Given the description of an element on the screen output the (x, y) to click on. 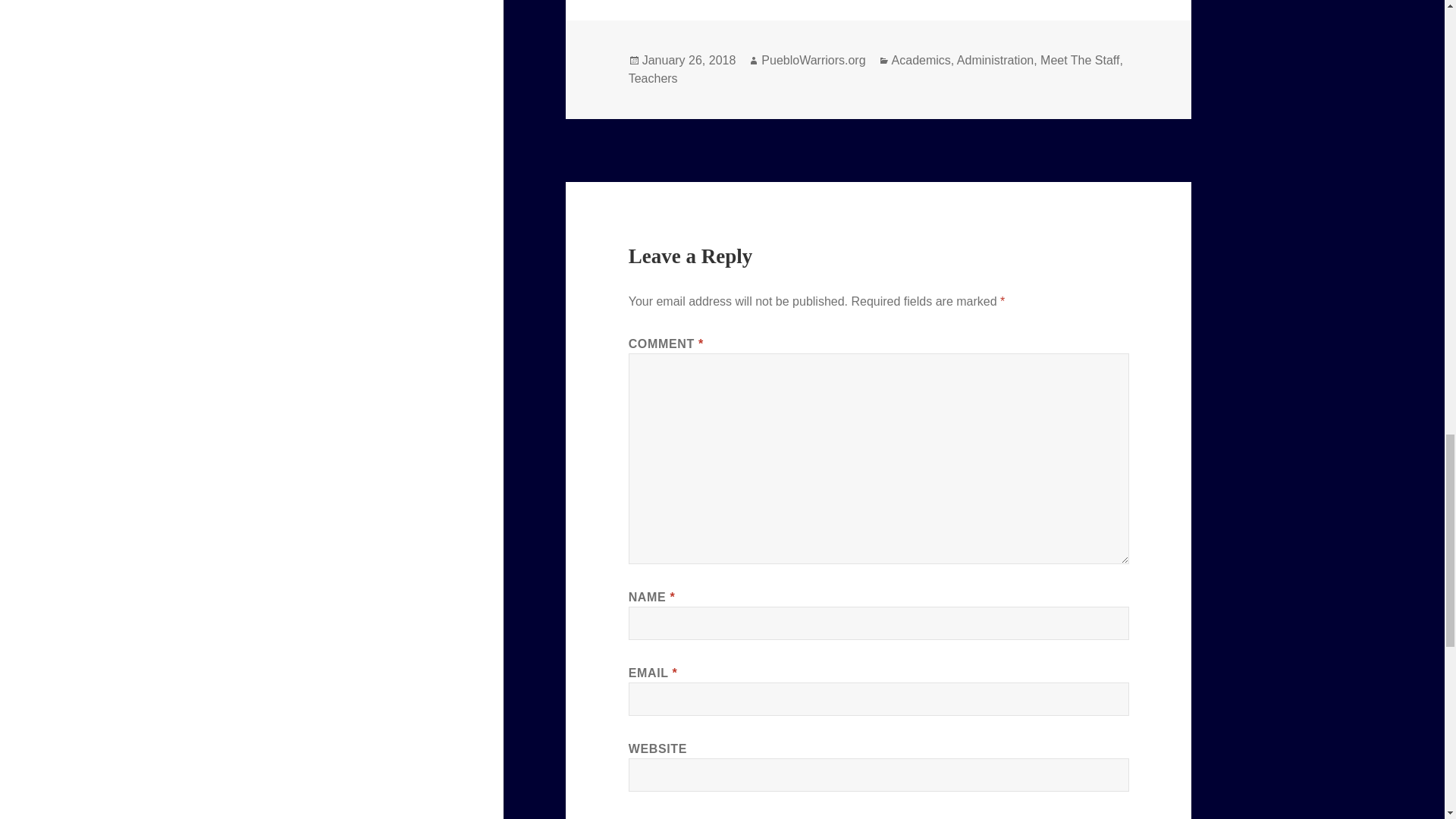
January 26, 2018 (689, 60)
PuebloWarriors.org (812, 60)
Meet The Staff (1080, 60)
Teachers (653, 78)
Administration (994, 60)
Academics (920, 60)
